Given the description of an element on the screen output the (x, y) to click on. 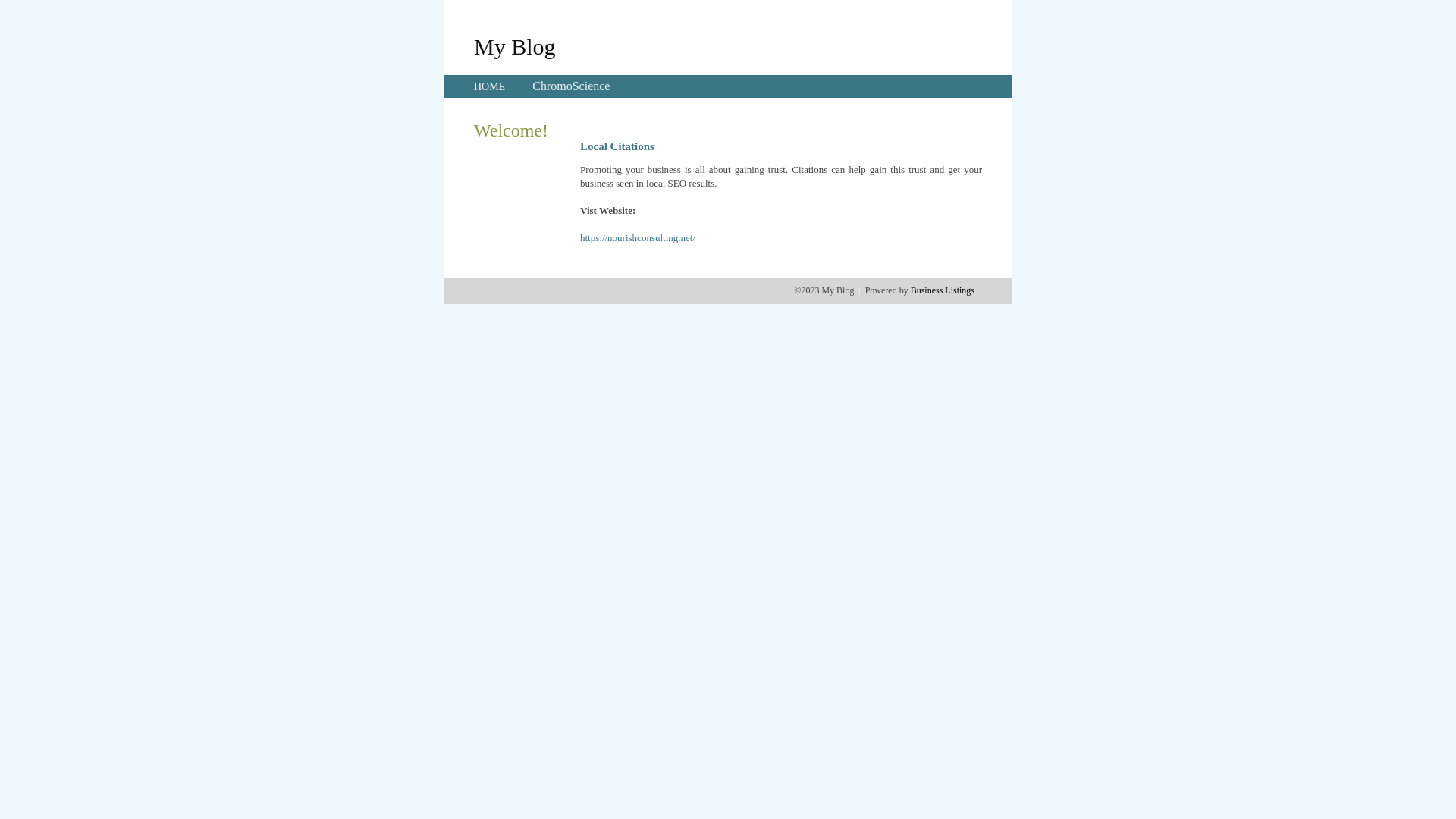
Business Listings Element type: text (942, 290)
HOME Element type: text (489, 86)
https://nourishconsulting.net/ Element type: text (637, 237)
My Blog Element type: text (514, 46)
ChromoScience Element type: text (570, 85)
